Given the description of an element on the screen output the (x, y) to click on. 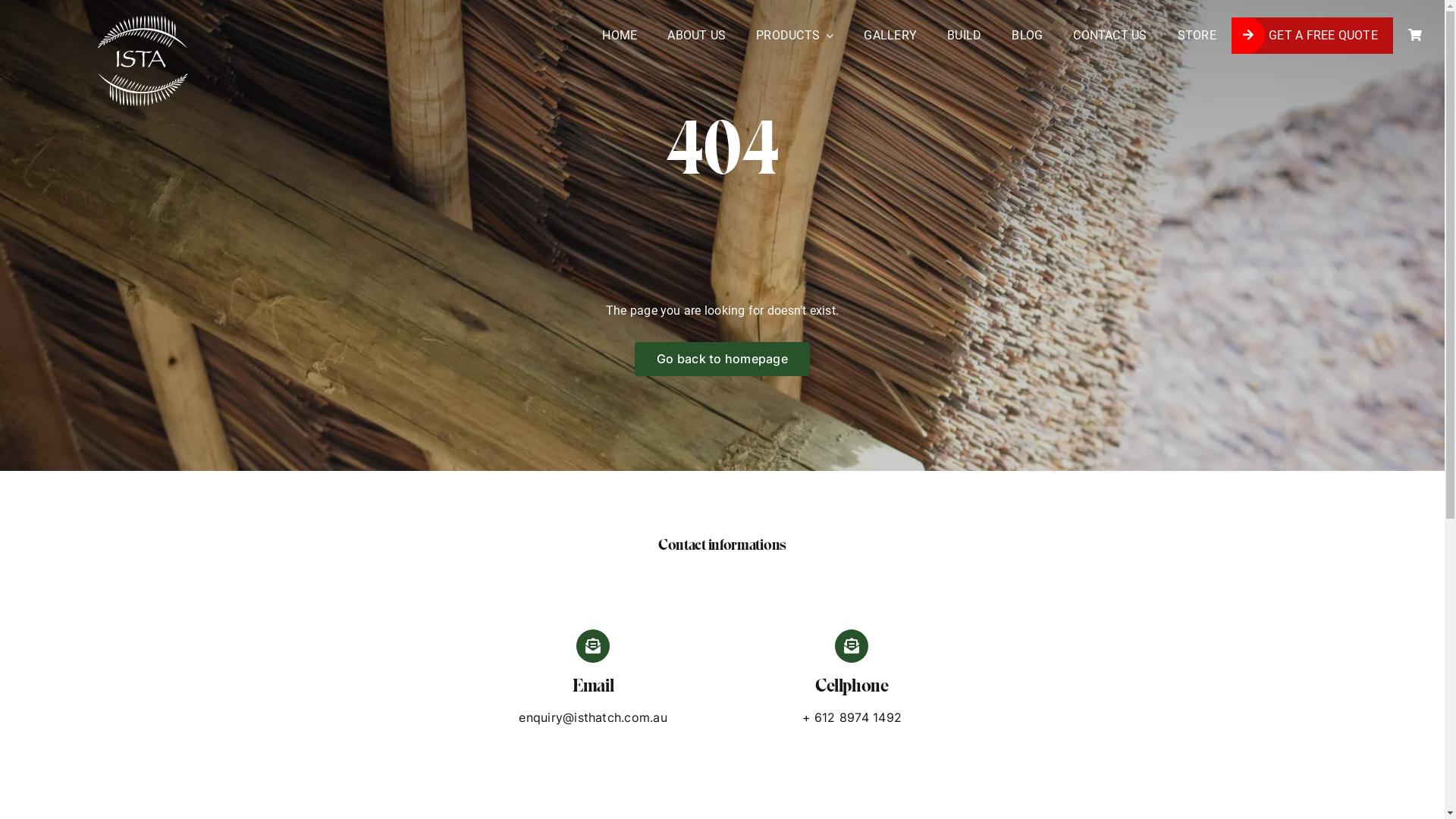
enquiry@isthatch.com.au Element type: text (592, 716)
HOME Element type: text (619, 35)
Go back to homepage Element type: text (721, 359)
GALLERY Element type: text (889, 35)
BLOG Element type: text (1026, 35)
CONTACT US Element type: text (1109, 35)
BUILD Element type: text (963, 35)
STORE Element type: text (1196, 35)
ABOUT US Element type: text (696, 35)
GET A FREE QUOTE Element type: text (1312, 35)
PRODUCTS Element type: text (794, 35)
+ 612 8974 1492 Element type: text (852, 716)
